Given the description of an element on the screen output the (x, y) to click on. 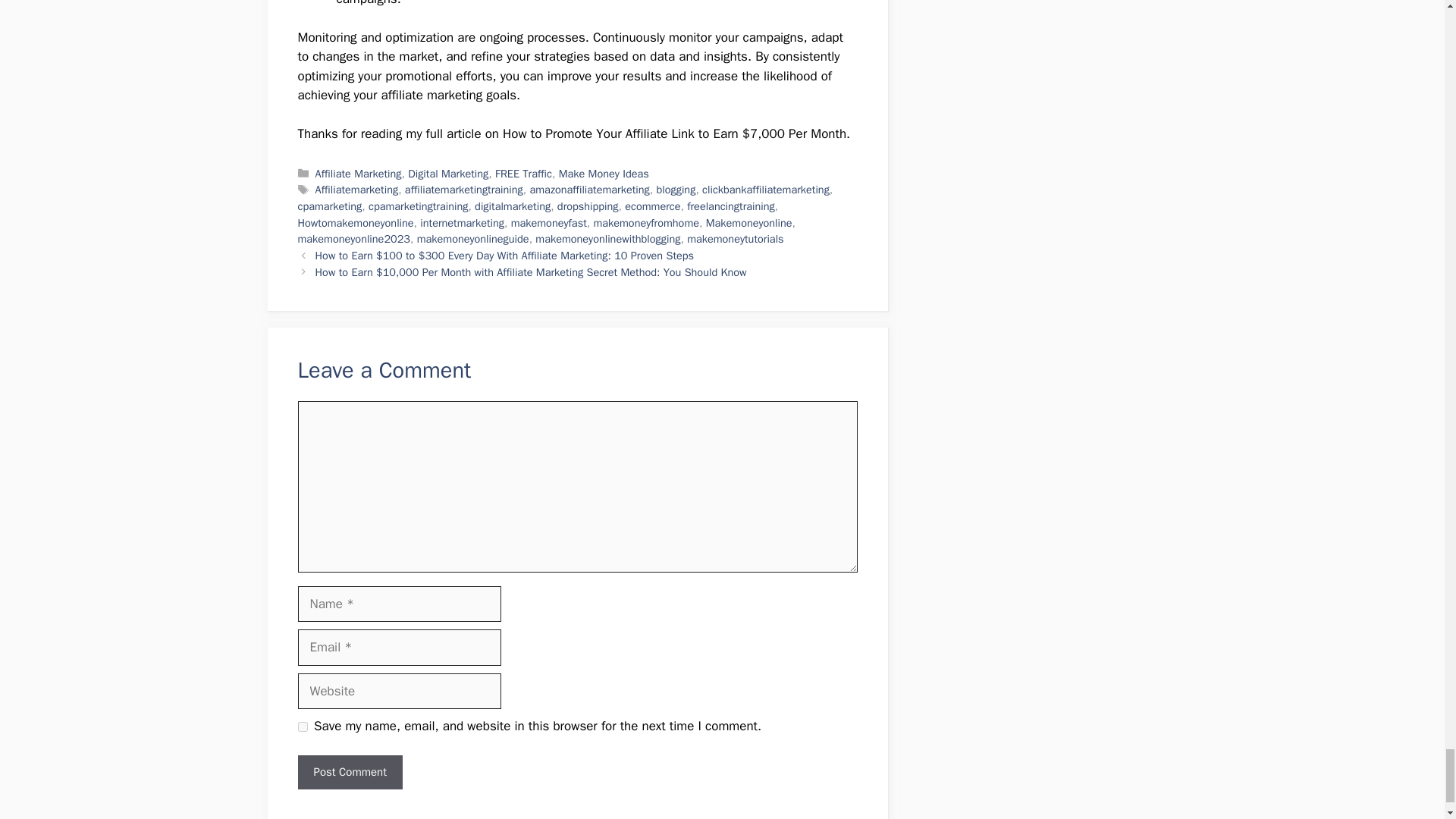
blogging (675, 189)
Digital Marketing (447, 173)
Make Money Ideas (604, 173)
FREE Traffic (523, 173)
amazonaffiliatemarketing (589, 189)
affiliatemarketingtraining (463, 189)
cpamarketingtraining (417, 205)
dropshipping (587, 205)
cpamarketing (329, 205)
Post Comment (349, 772)
yes (302, 726)
Affiliatemarketing (356, 189)
digitalmarketing (512, 205)
Affiliate Marketing (358, 173)
clickbankaffiliatemarketing (765, 189)
